Given the description of an element on the screen output the (x, y) to click on. 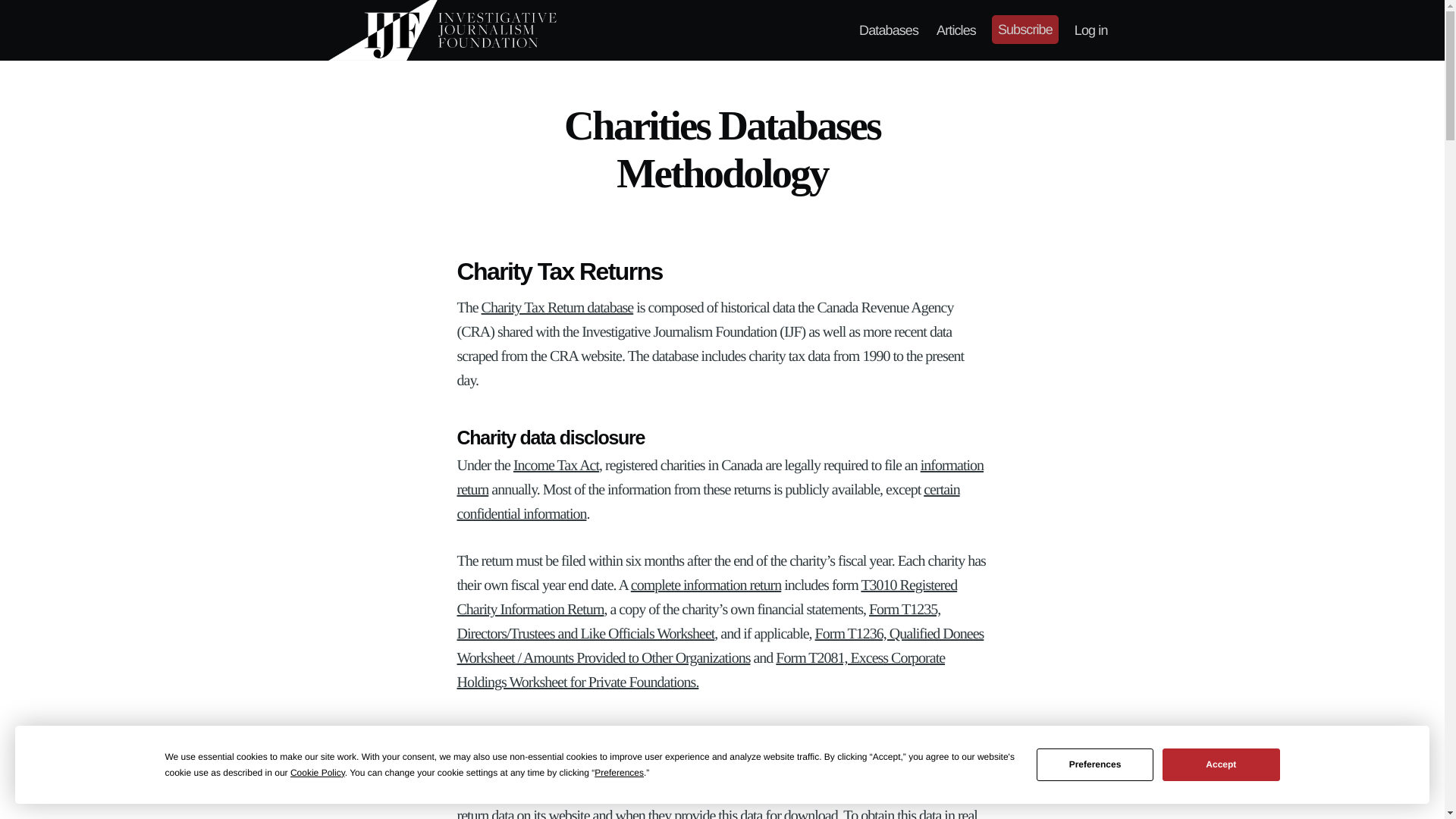
Income Tax Act (555, 465)
Databases (888, 30)
information return (720, 477)
Charity Tax Return database (557, 307)
Log in (1090, 30)
certain confidential information (708, 501)
complete information return (705, 585)
Subscribe (1024, 30)
Accept (1220, 764)
T3010 Registered Charity Information Return (706, 597)
Articles (956, 30)
Preferences (1094, 764)
